Given the description of an element on the screen output the (x, y) to click on. 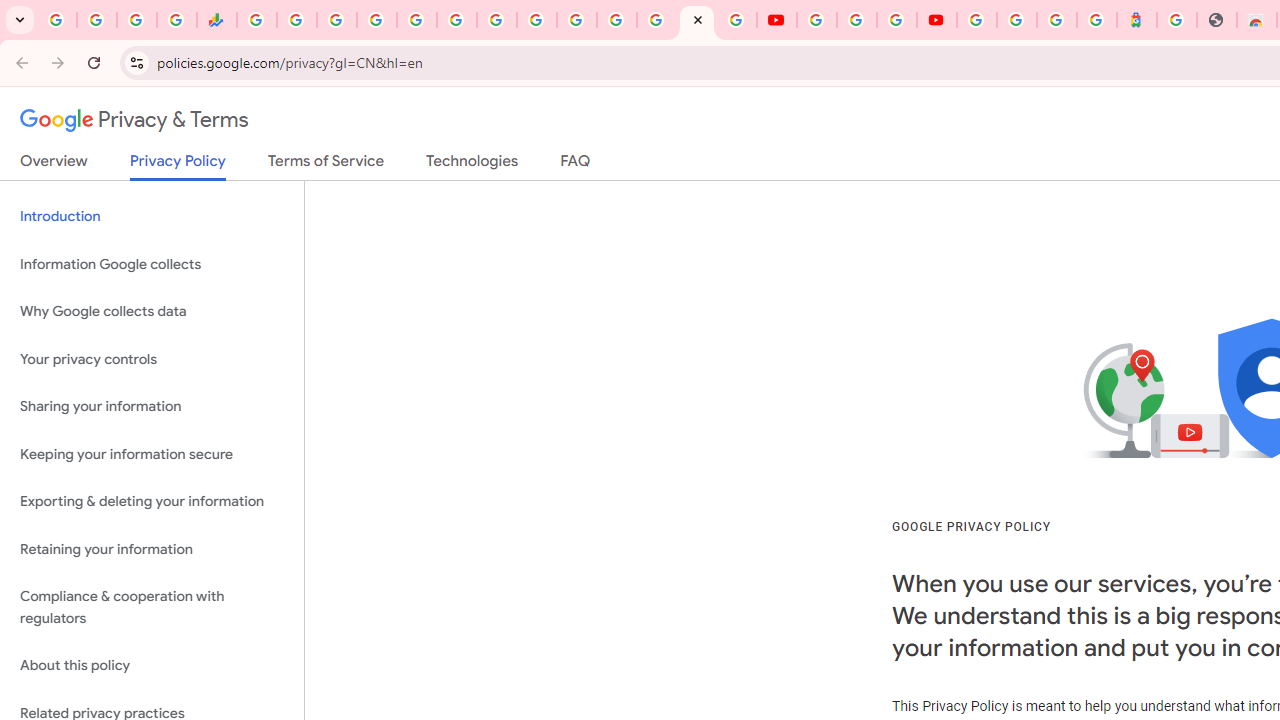
Sharing your information (152, 407)
YouTube (817, 20)
Terms of Service (326, 165)
Close (697, 19)
Search tabs (20, 20)
Privacy Policy (177, 166)
Sign in - Google Accounts (576, 20)
Google Account Help (856, 20)
Keeping your information secure (152, 453)
Compliance & cooperation with regulators (152, 607)
View site information (136, 62)
FAQ (575, 165)
